Given the description of an element on the screen output the (x, y) to click on. 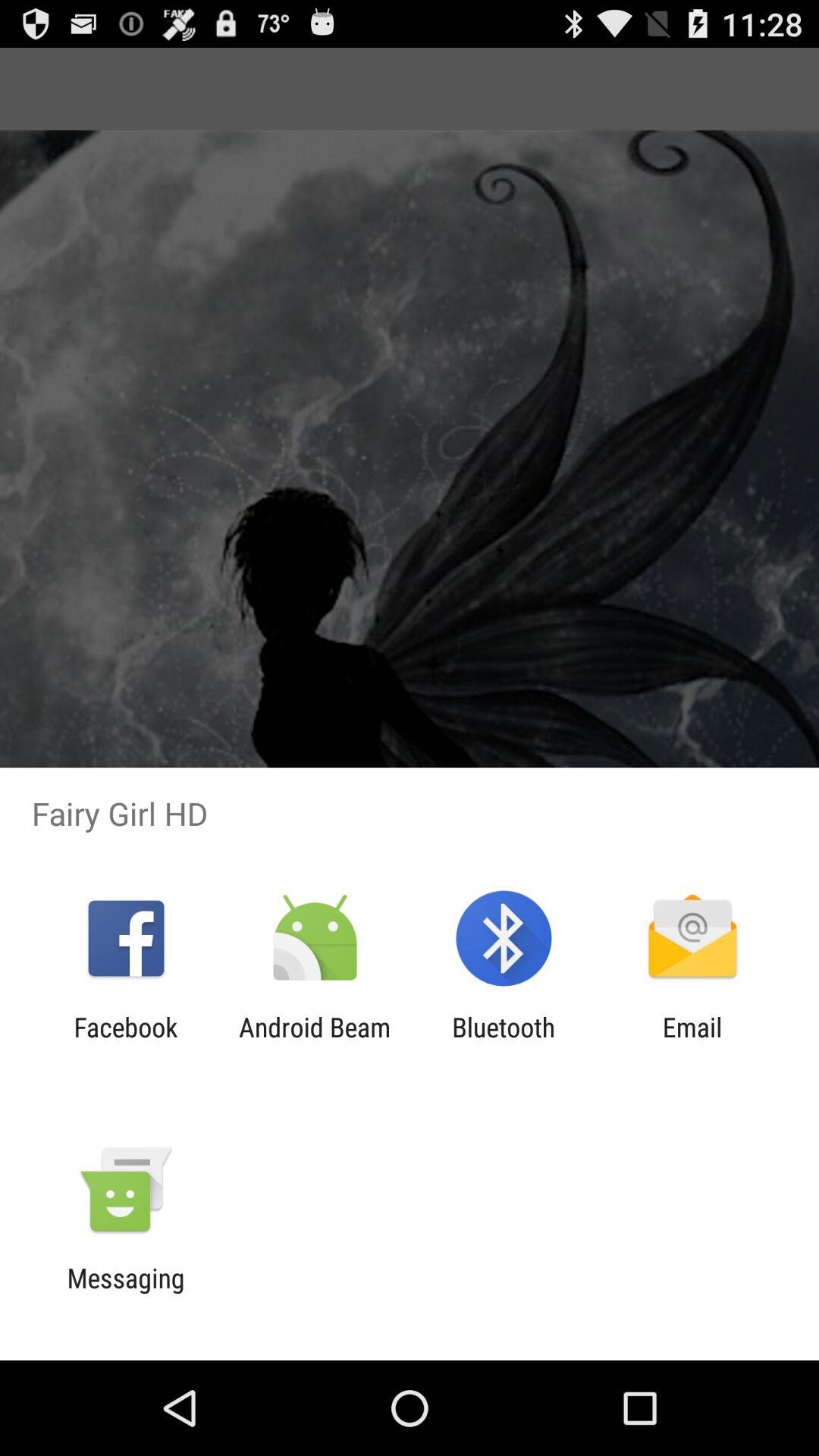
turn off the messaging (125, 1293)
